Given the description of an element on the screen output the (x, y) to click on. 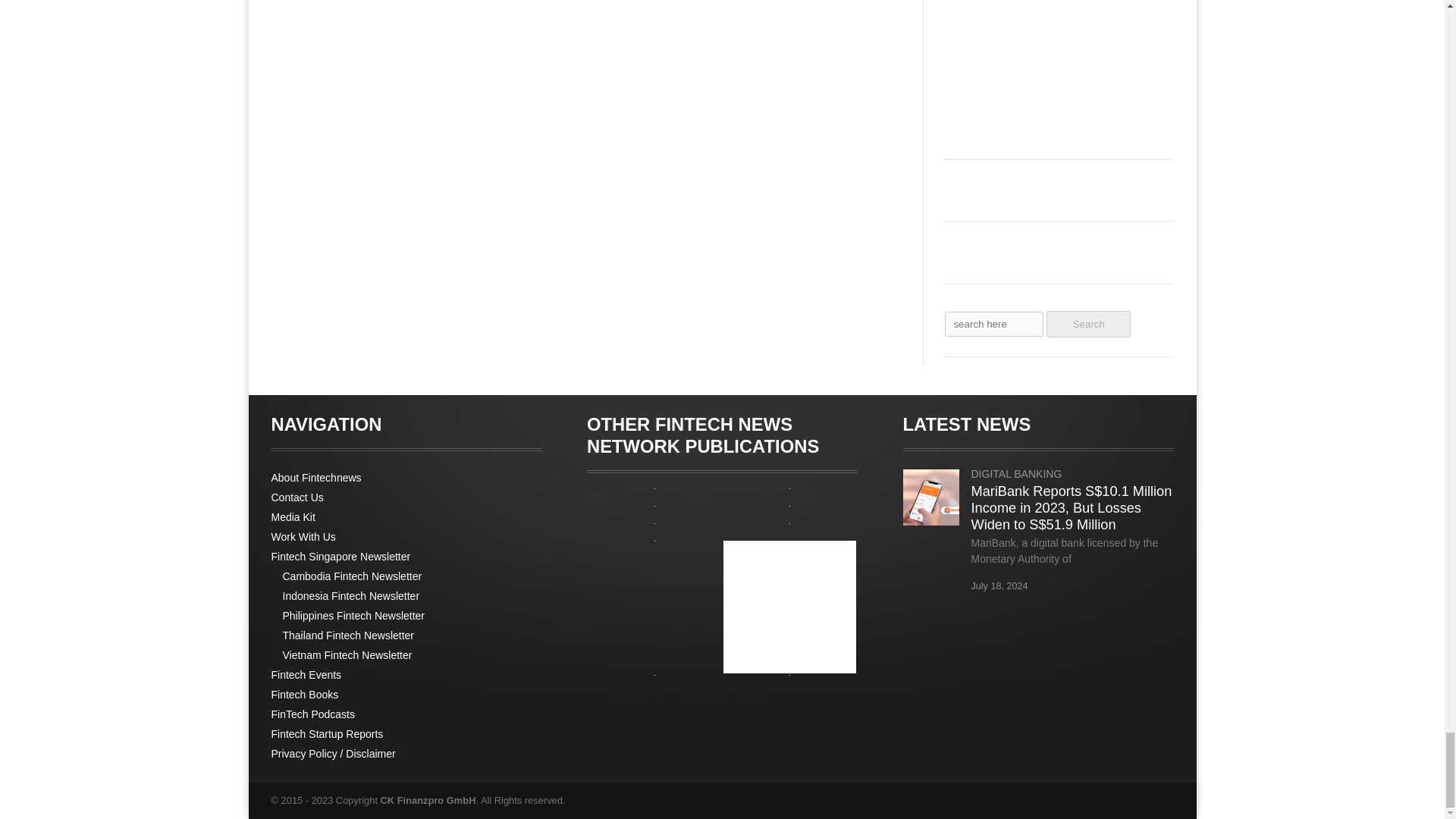
Search (1088, 324)
Fintech Books (304, 694)
